Given the description of an element on the screen output the (x, y) to click on. 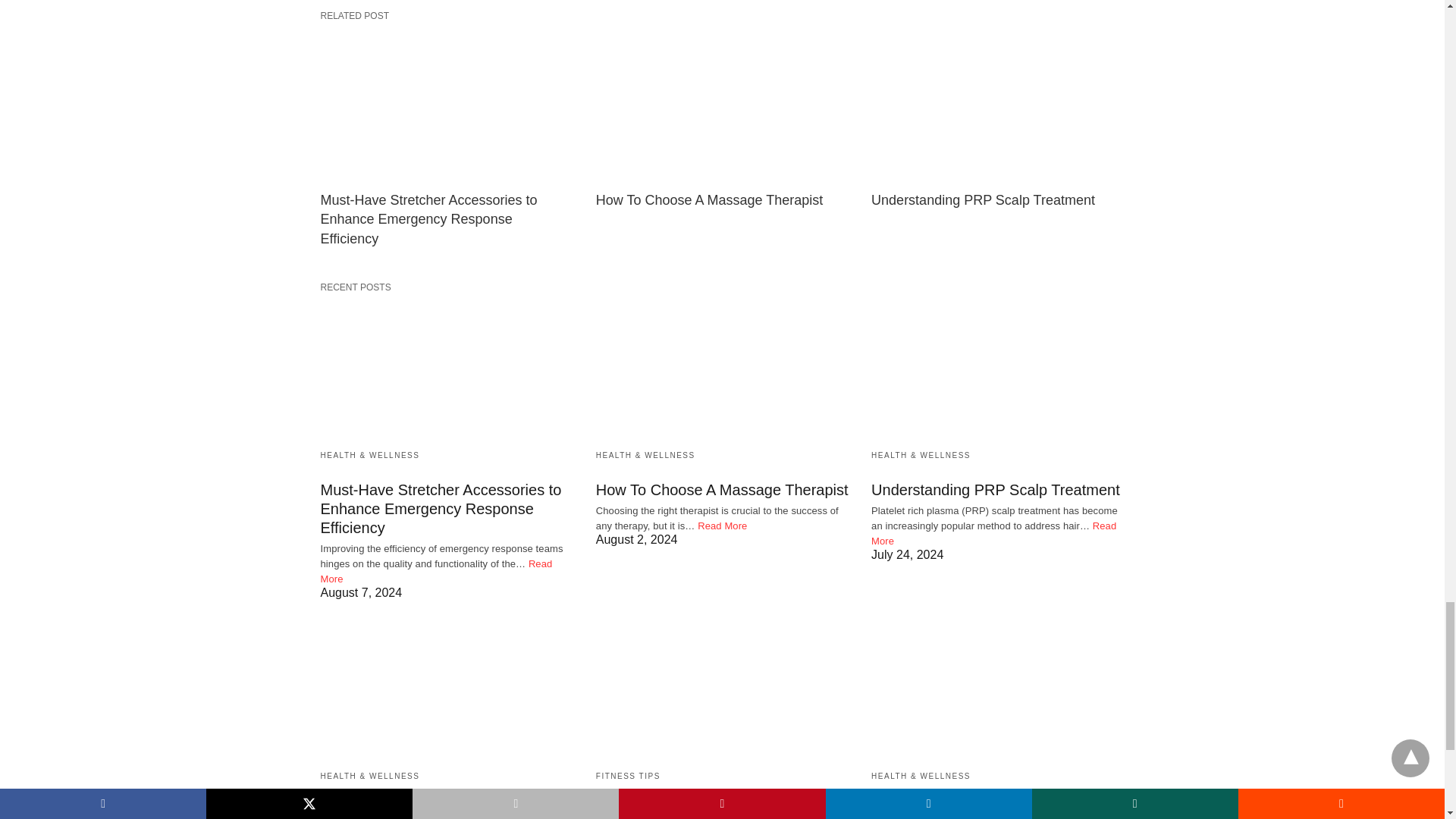
Understanding PRP Scalp Treatment (997, 106)
Understanding PRP Scalp Treatment (982, 200)
How To Choose A Massage Therapist (709, 200)
How To Choose A Massage Therapist (721, 106)
